Given the description of an element on the screen output the (x, y) to click on. 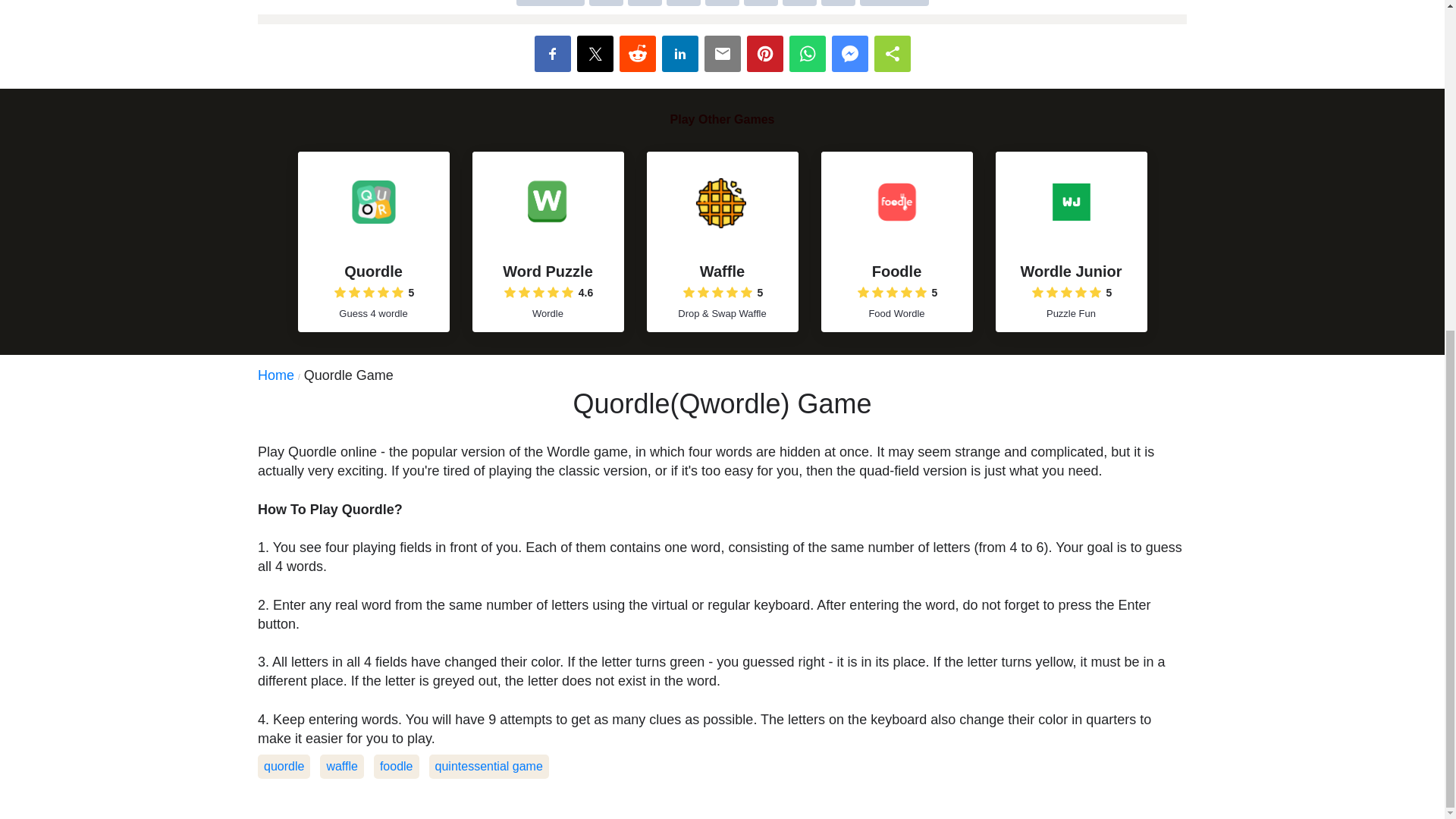
quordle (283, 766)
Home (280, 375)
foodle (396, 766)
quintessential game (488, 766)
2048 Tetris (721, 12)
waffle (342, 766)
